Given the description of an element on the screen output the (x, y) to click on. 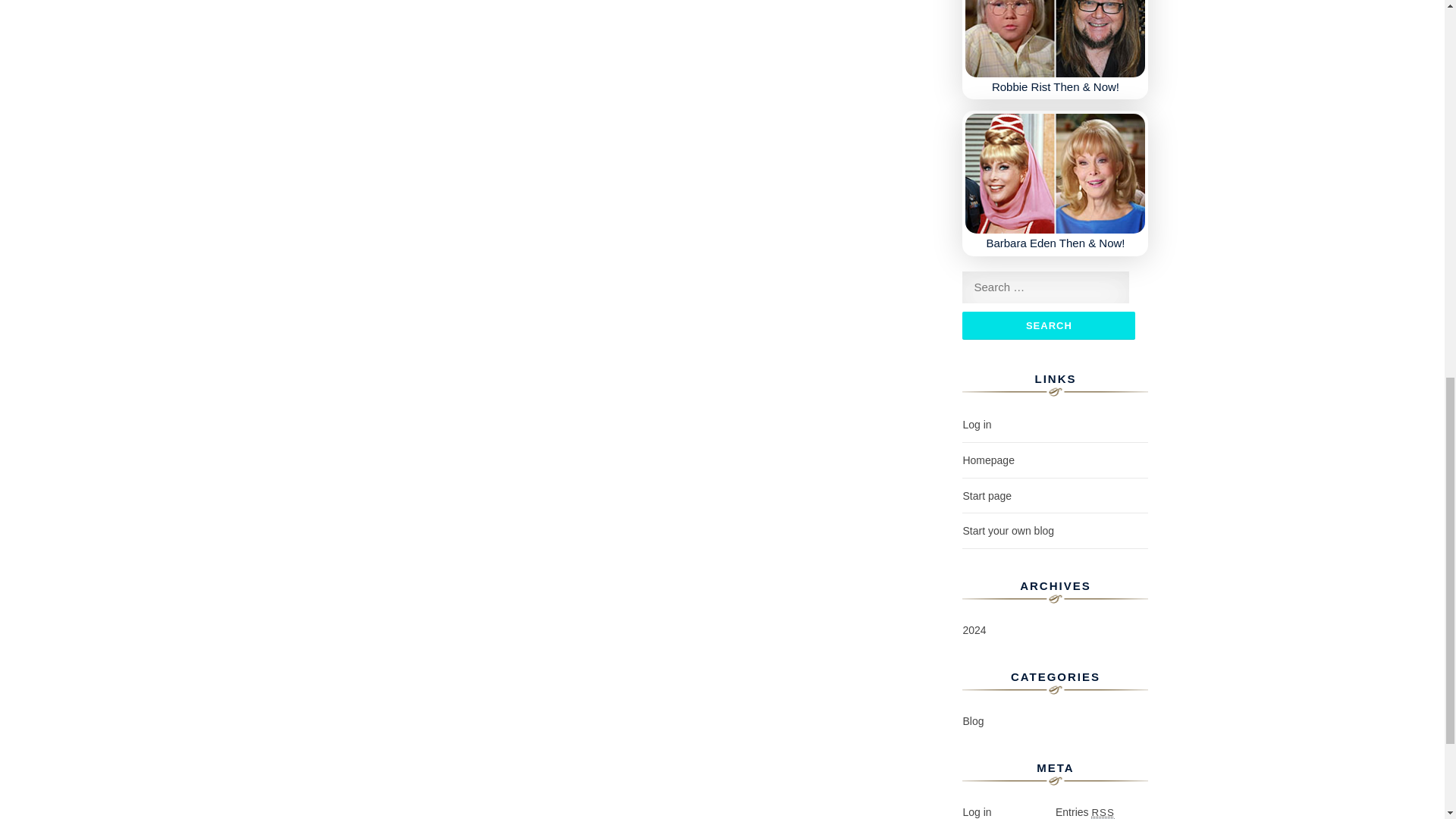
Homepage (988, 460)
Entries RSS (1085, 811)
Start page (986, 495)
Start your own blog (1008, 530)
Log in (976, 811)
Really Simple Syndication (1101, 812)
Log in (976, 424)
2024 (973, 630)
Search (1048, 325)
Blog (973, 720)
Search (1048, 325)
Search (1048, 325)
